Given the description of an element on the screen output the (x, y) to click on. 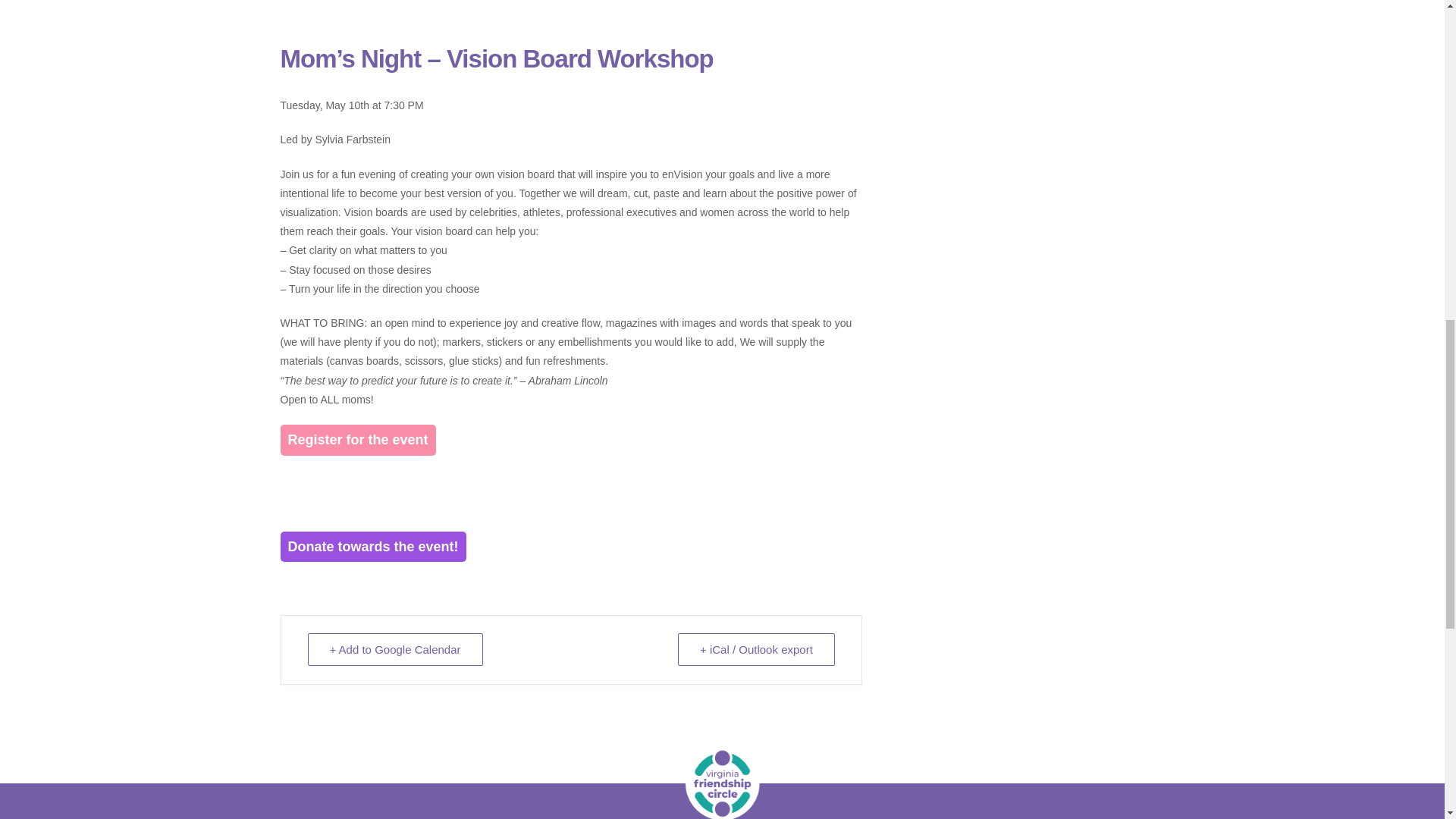
Donate towards the event! (373, 546)
Register for the event (358, 440)
